Given the description of an element on the screen output the (x, y) to click on. 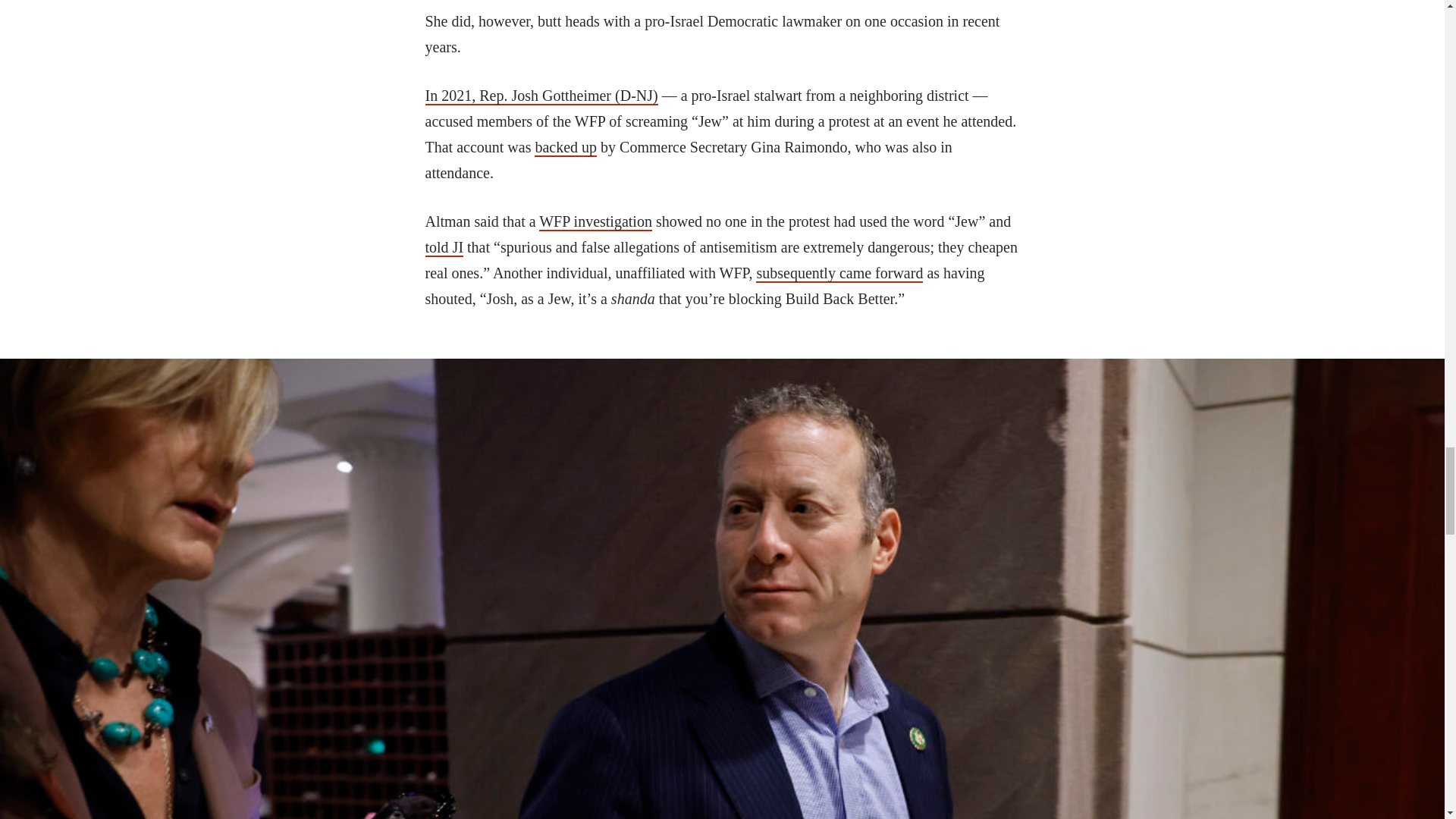
backed up (565, 147)
WFP investigation (595, 221)
subsequently came forward (839, 273)
told JI (444, 248)
